Given the description of an element on the screen output the (x, y) to click on. 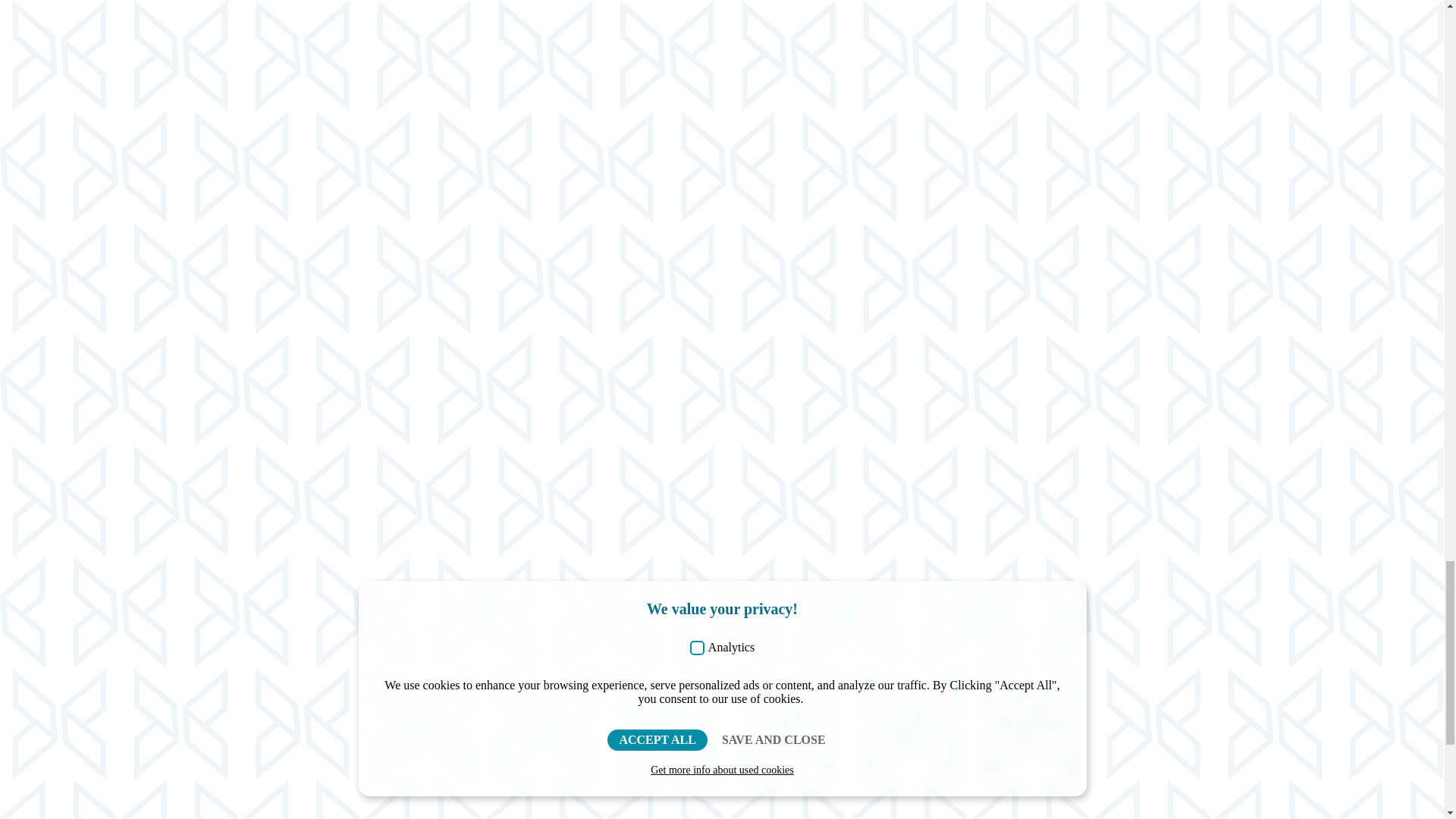
Banking (456, 600)
Integrations platform (285, 677)
Document generation (286, 600)
Service Providers (474, 625)
Public Utilities (469, 651)
Document management (290, 625)
Insurance (459, 677)
Digitization (267, 651)
